Given the description of an element on the screen output the (x, y) to click on. 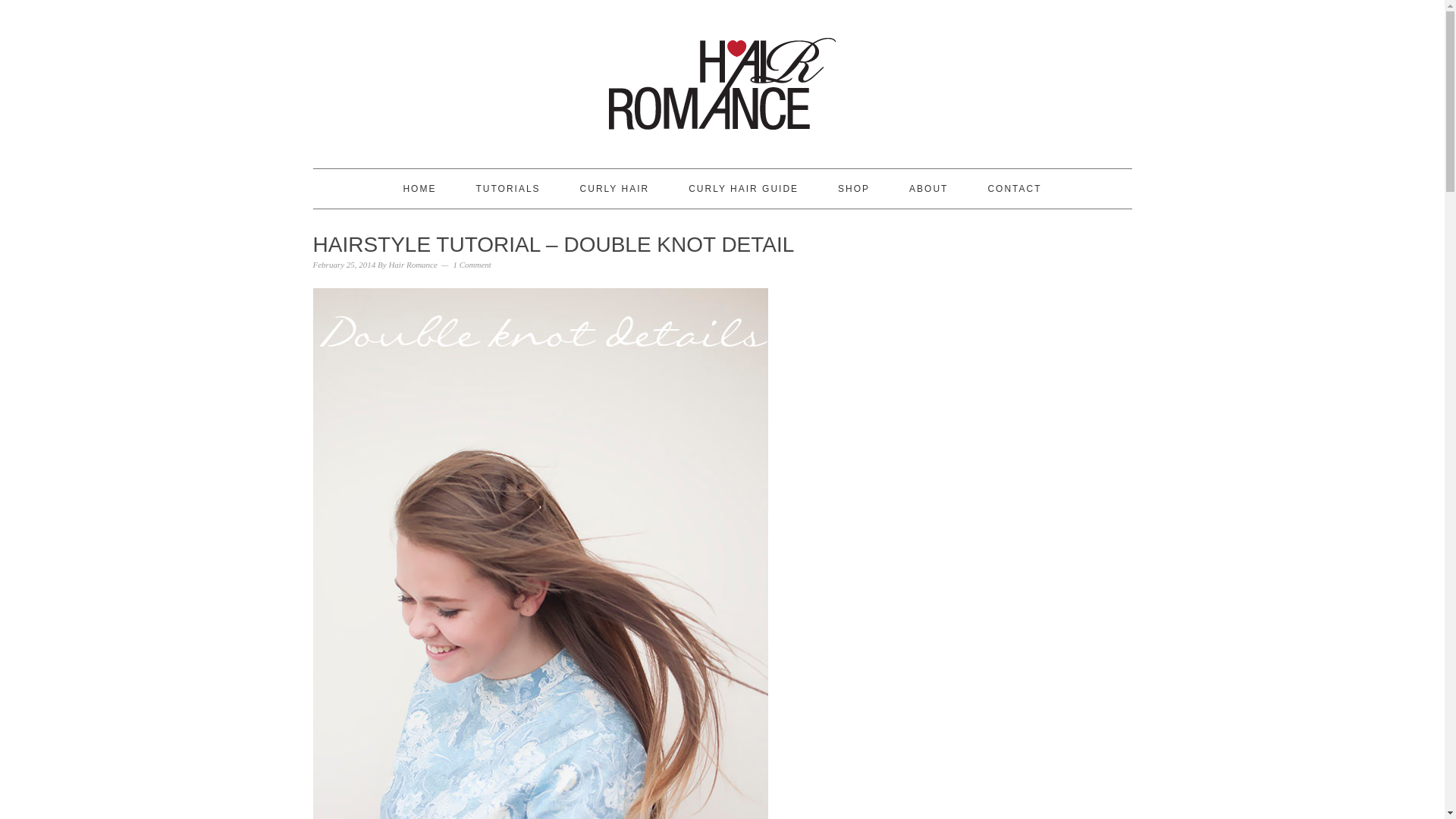
Hair Romance (412, 264)
ABOUT (927, 188)
TUTORIALS (508, 188)
HOME (419, 188)
HAIR ROMANCE (722, 77)
CURLY HAIR (614, 188)
1 Comment (471, 264)
CONTACT (1013, 188)
SHOP (853, 188)
CURLY HAIR GUIDE (742, 188)
